Given the description of an element on the screen output the (x, y) to click on. 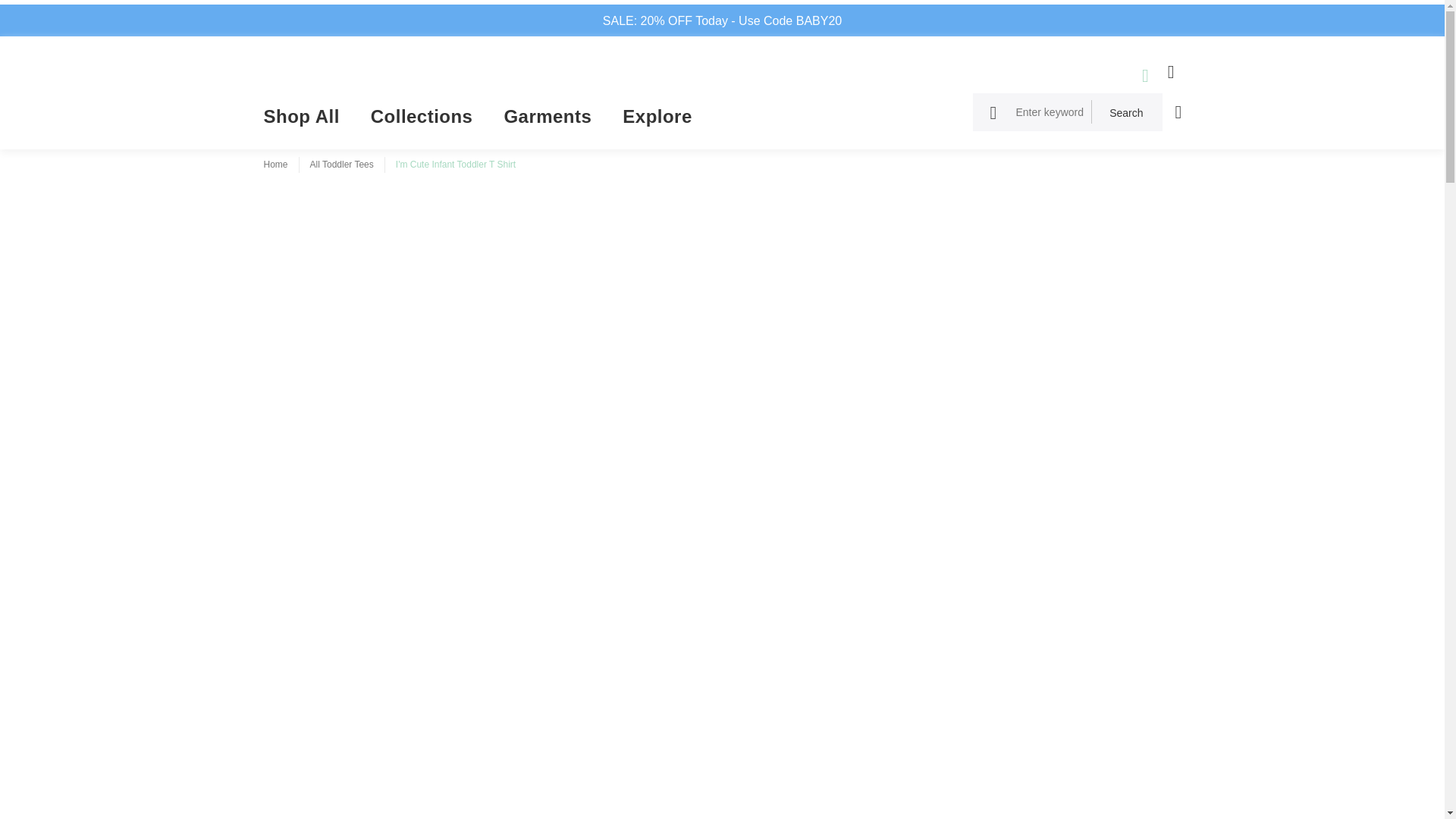
Collections (422, 120)
Shop All (309, 120)
